Given the description of an element on the screen output the (x, y) to click on. 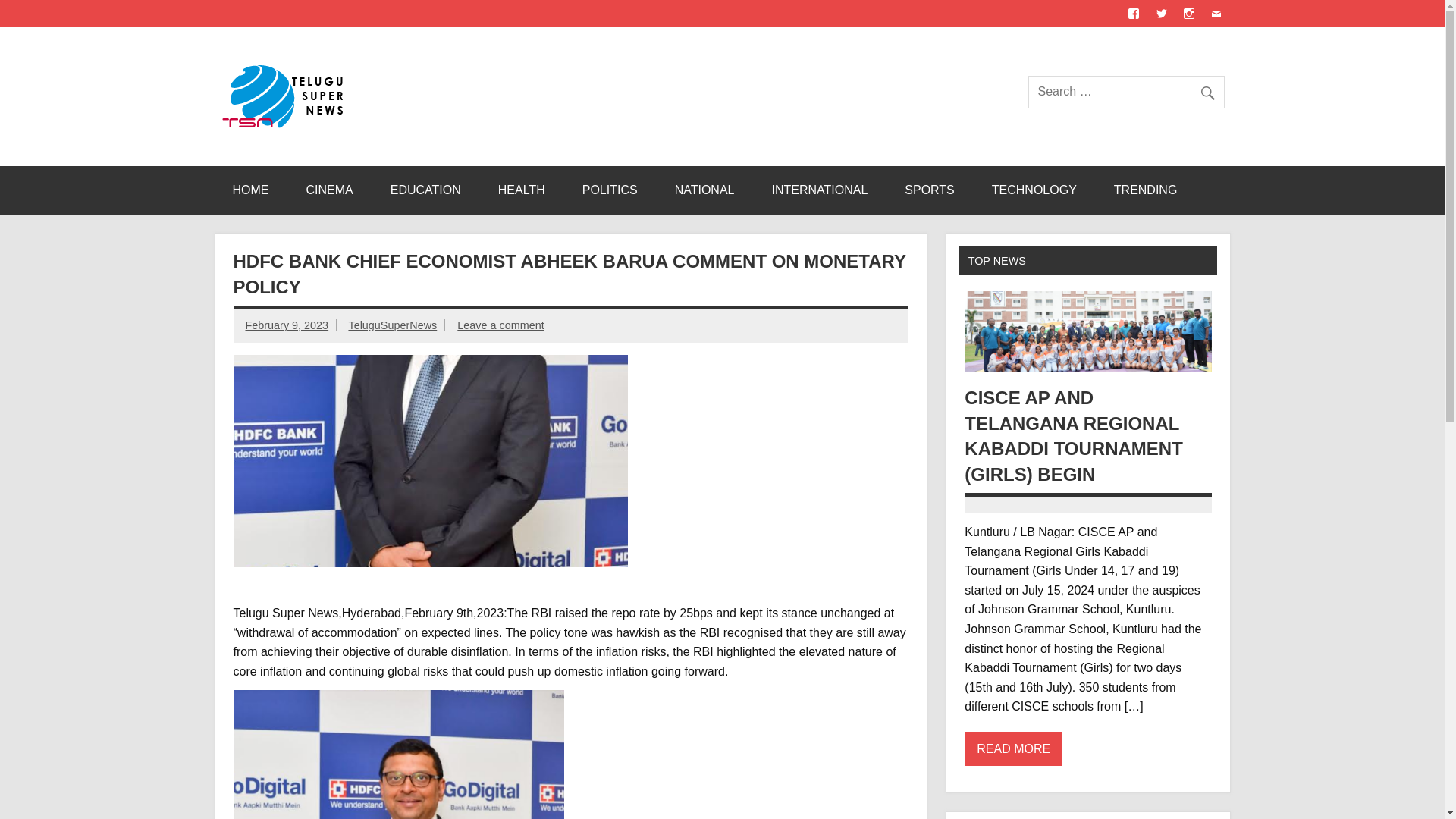
View all posts by TeluguSuperNews (391, 325)
February 9, 2023 (287, 325)
READ MORE (1012, 748)
Leave a comment (500, 325)
5:43 am (287, 325)
TECHNOLOGY (1034, 190)
HEALTH (521, 190)
TRENDING (1145, 190)
EDUCATION (425, 190)
CINEMA (329, 190)
NATIONAL (704, 190)
SPORTS (929, 190)
HOME (250, 190)
INTERNATIONAL (818, 190)
POLITICS (610, 190)
